Given the description of an element on the screen output the (x, y) to click on. 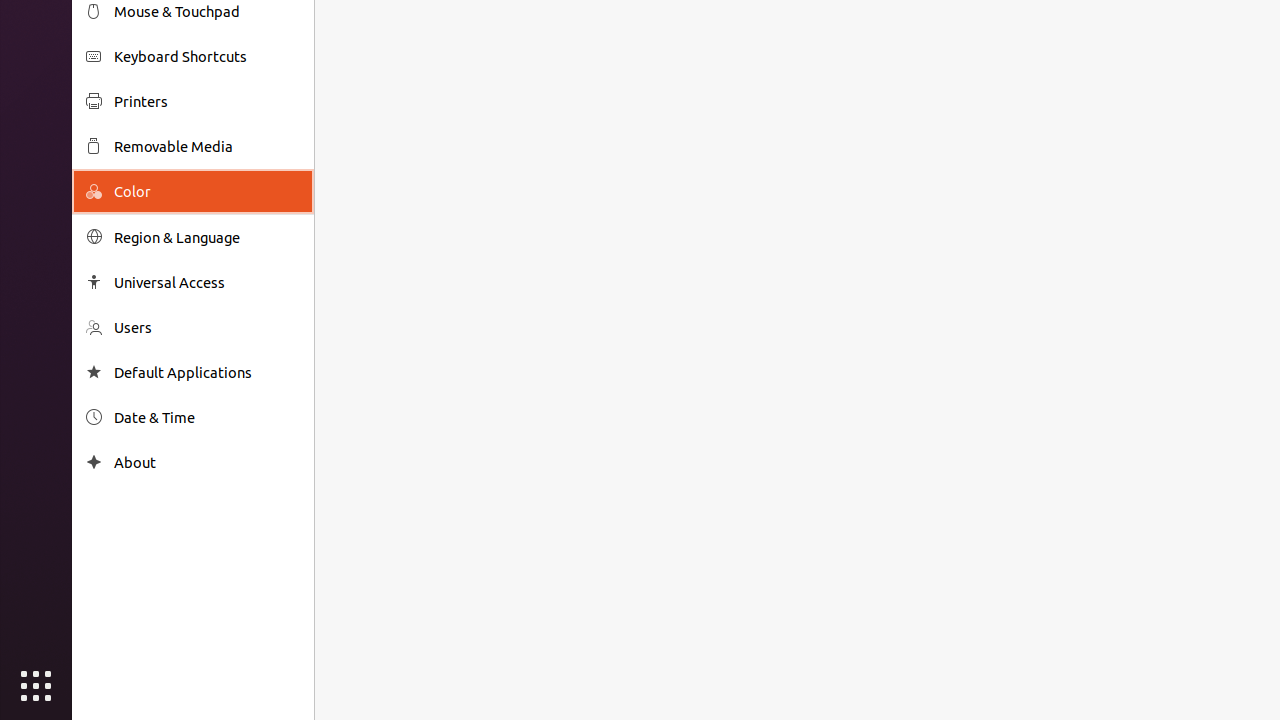
Mouse & Touchpad Element type: label (207, 11)
About Element type: label (207, 462)
Universal Access Element type: label (207, 282)
Printers Element type: label (207, 101)
Users Element type: label (207, 327)
